Given the description of an element on the screen output the (x, y) to click on. 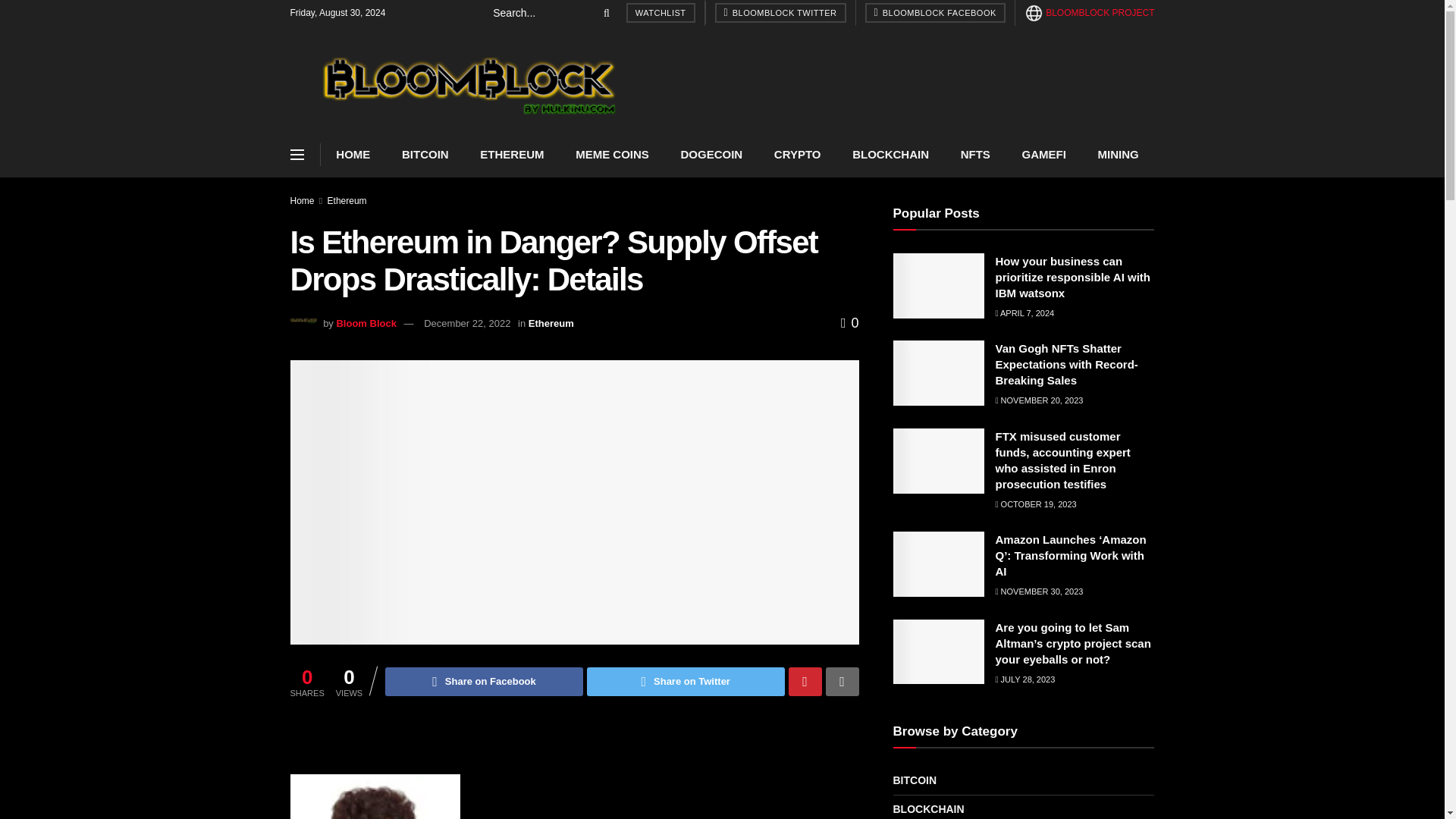
Ethereum (346, 200)
Ethereum (550, 323)
GAMEFI (1043, 154)
Share on Twitter (685, 681)
BLOOMBLOCK FACEBOOK (934, 12)
MINING (1117, 154)
NFTS (975, 154)
HOME (352, 154)
MEME COINS (611, 154)
Share on Facebook (484, 681)
